Given the description of an element on the screen output the (x, y) to click on. 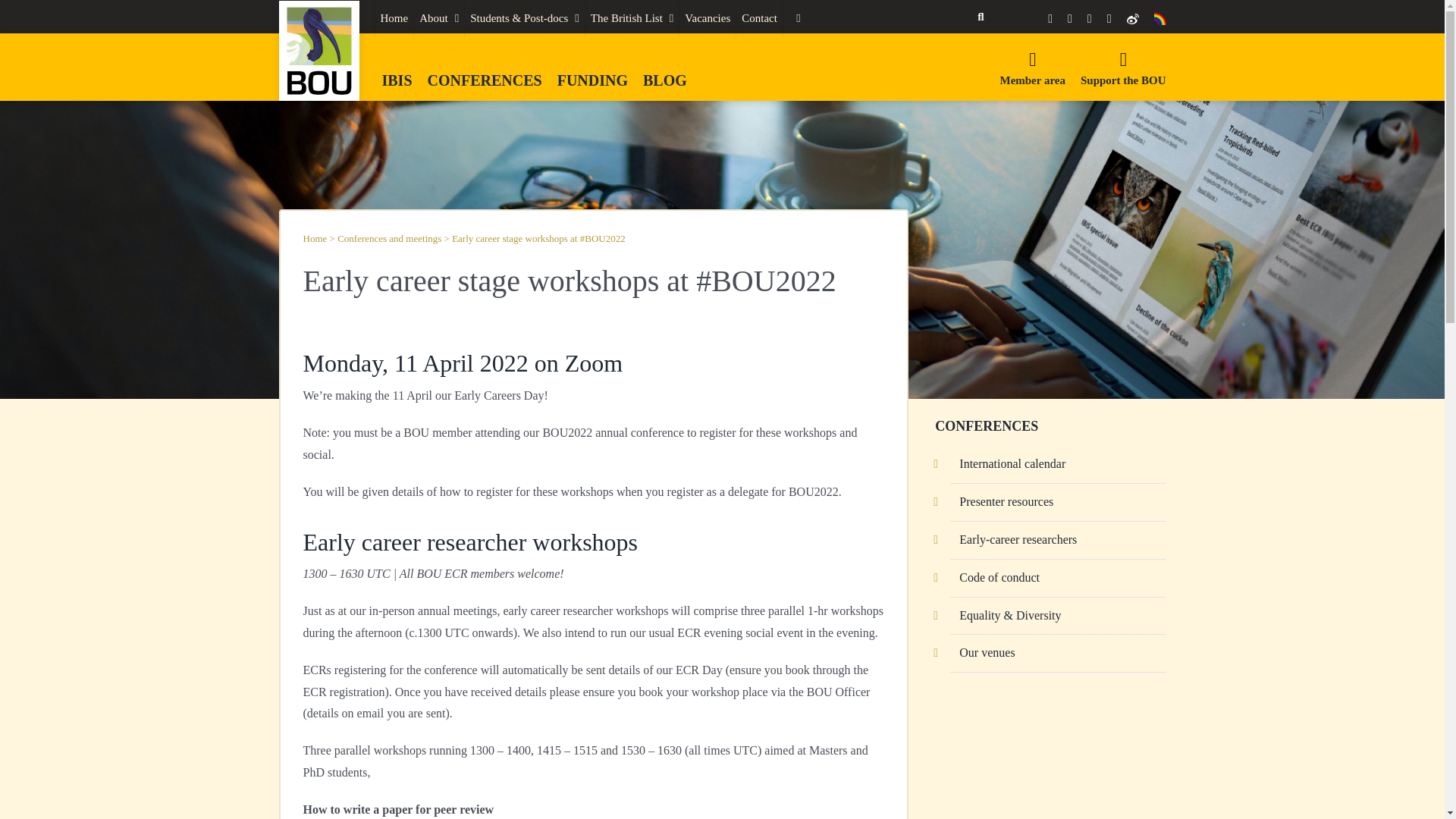
About (438, 18)
Home (393, 18)
Vacancies (707, 18)
Weibo (1132, 18)
Contact (759, 18)
Weibo (1132, 18)
The British List (631, 18)
